Given the description of an element on the screen output the (x, y) to click on. 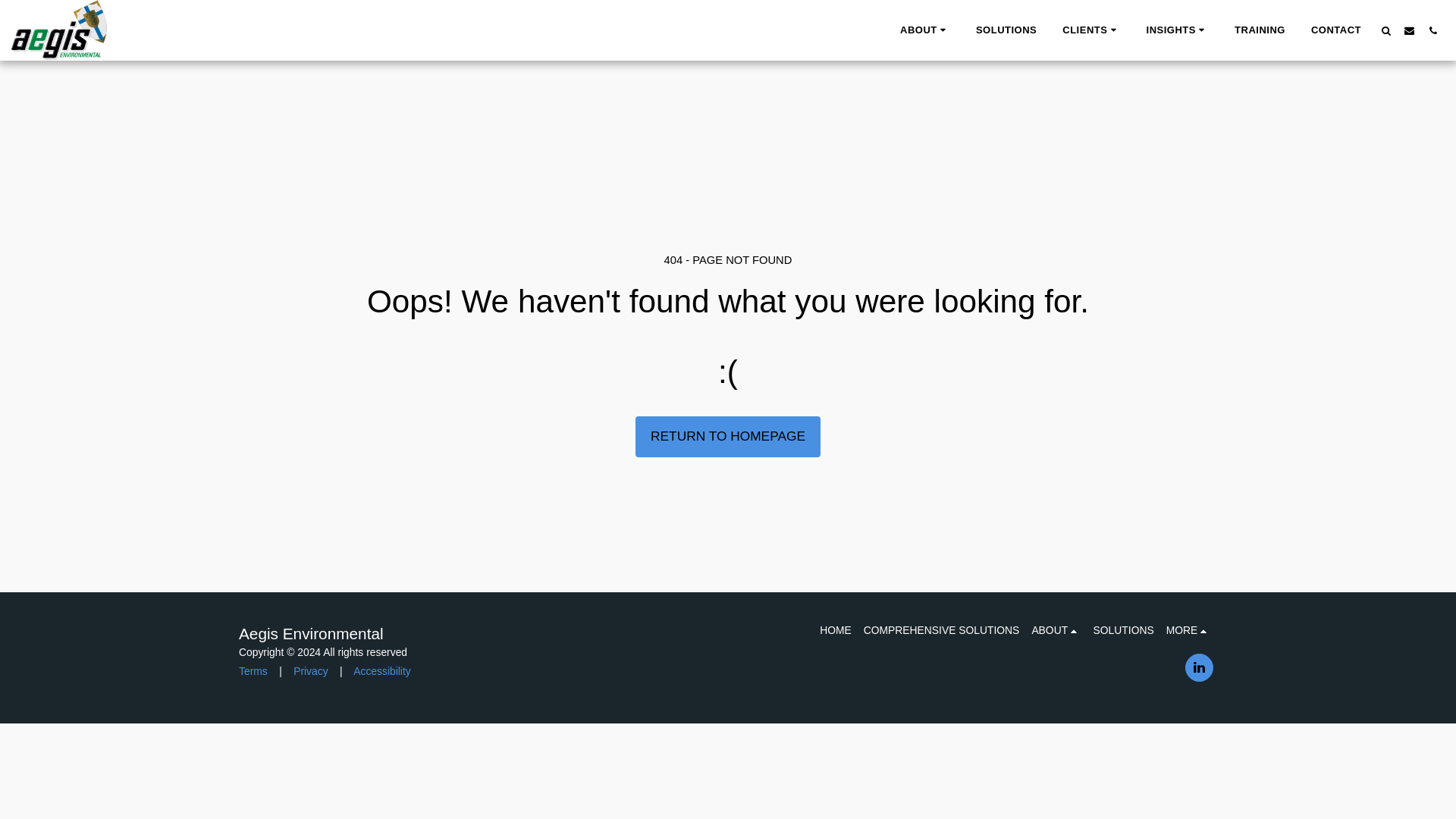
CLIENTS   (1090, 29)
SOLUTIONS (1005, 29)
TRAINING (1260, 29)
INSIGHTS   (1177, 29)
ABOUT   (925, 29)
CONTACT (1335, 29)
